Given the description of an element on the screen output the (x, y) to click on. 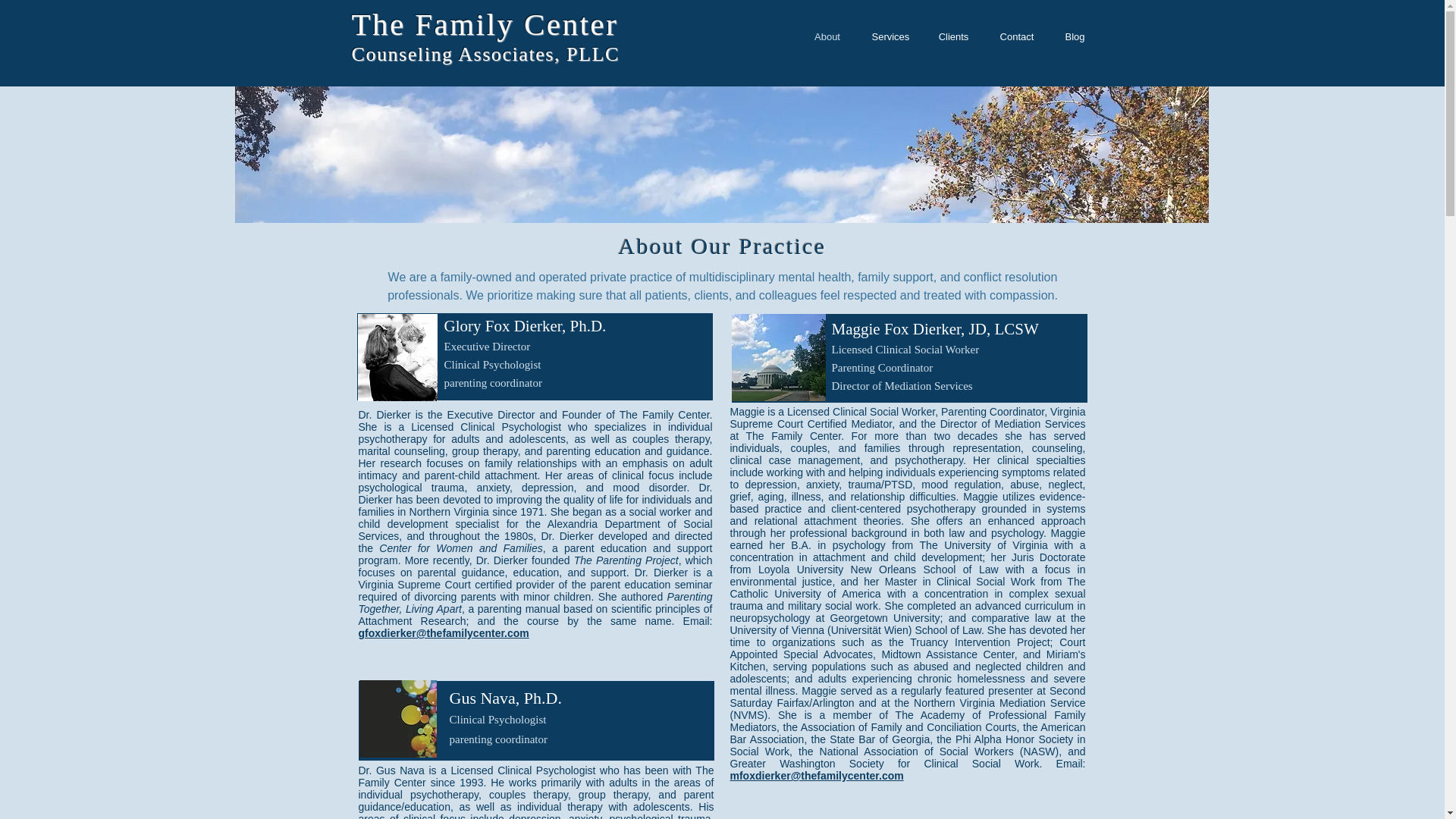
web.jpg (398, 357)
Circles (397, 718)
The Family Center (485, 23)
Services (890, 36)
About (826, 36)
Clients (953, 36)
Banana Leaves (777, 357)
Counseling Associates, PLLC (486, 54)
Contact (1016, 36)
Blog (1074, 36)
